Given the description of an element on the screen output the (x, y) to click on. 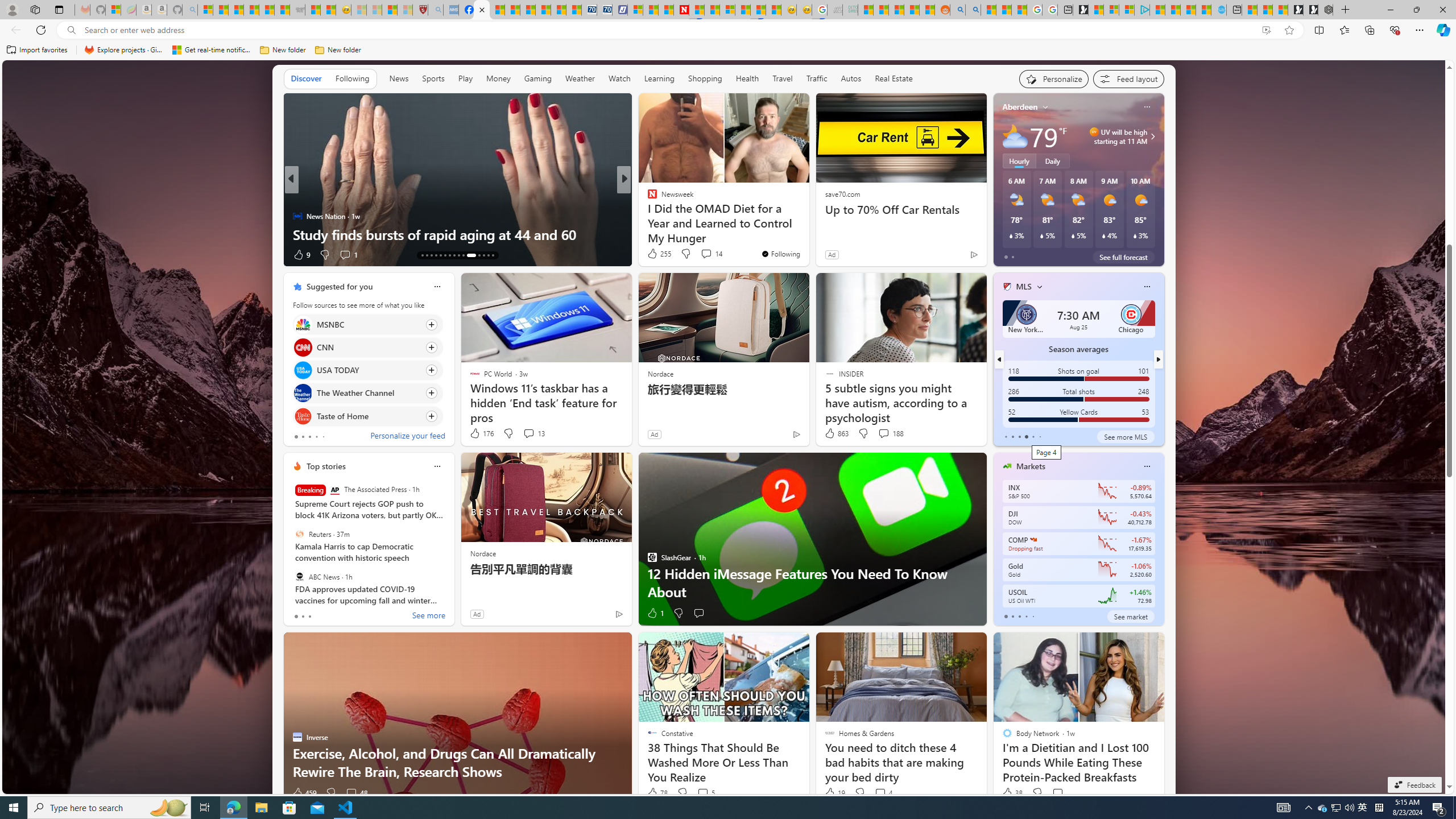
View comments 48 Comment (350, 792)
AutomationID: tab-77 (475, 255)
12 Popular Science Lies that Must be Corrected - Sleeping (405, 9)
AutomationID: tab-70 (440, 255)
View comments 13 Comment (533, 433)
Taste of Home (302, 416)
tab-2 (1019, 616)
AutomationID: tab-73 (454, 255)
Class: weather-arrow-glyph (1152, 136)
AutomationID: tab-91 (488, 255)
View comments 48 Comment (355, 792)
